Given the description of an element on the screen output the (x, y) to click on. 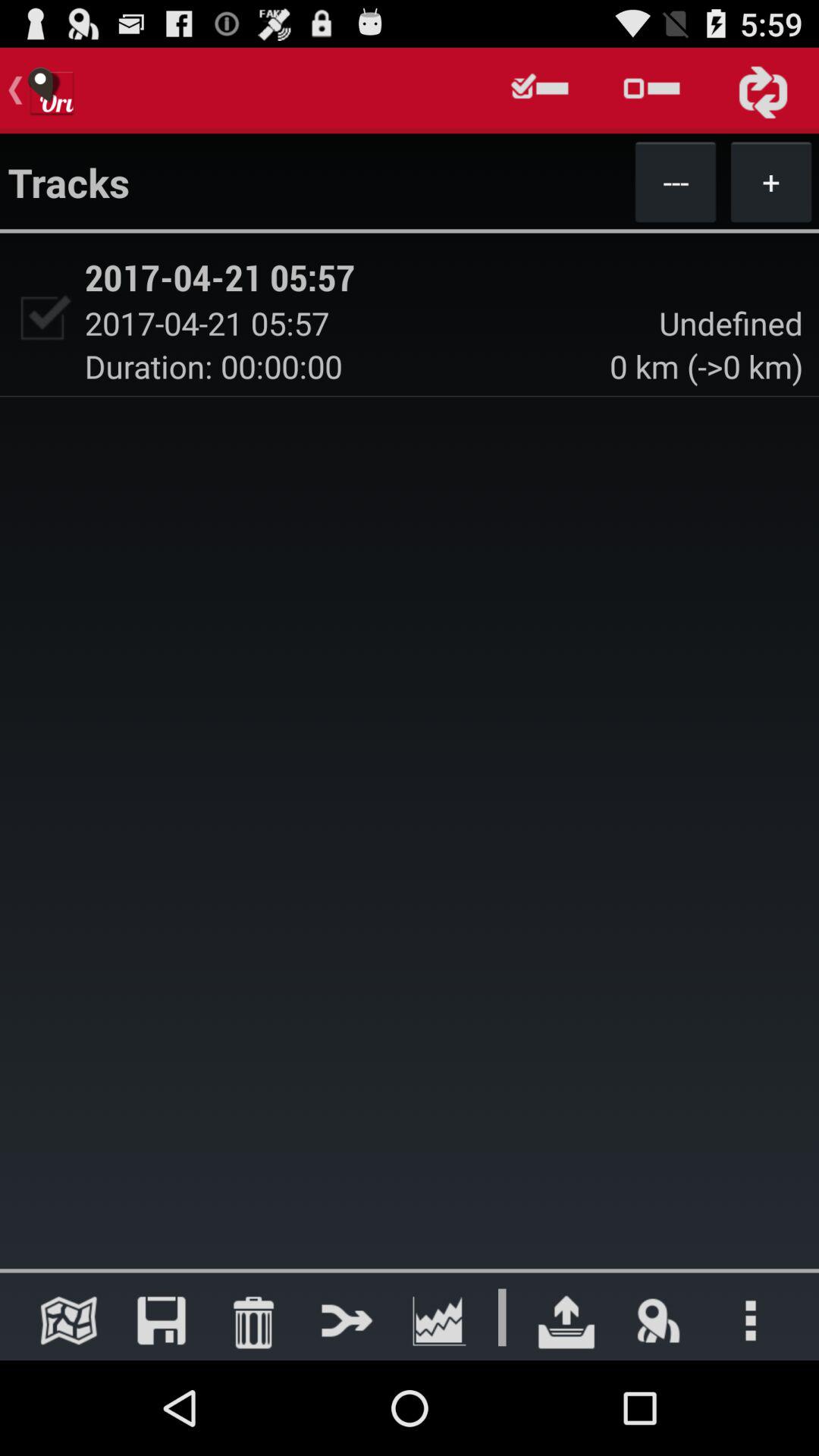
open icon above the tracks app (540, 90)
